Given the description of an element on the screen output the (x, y) to click on. 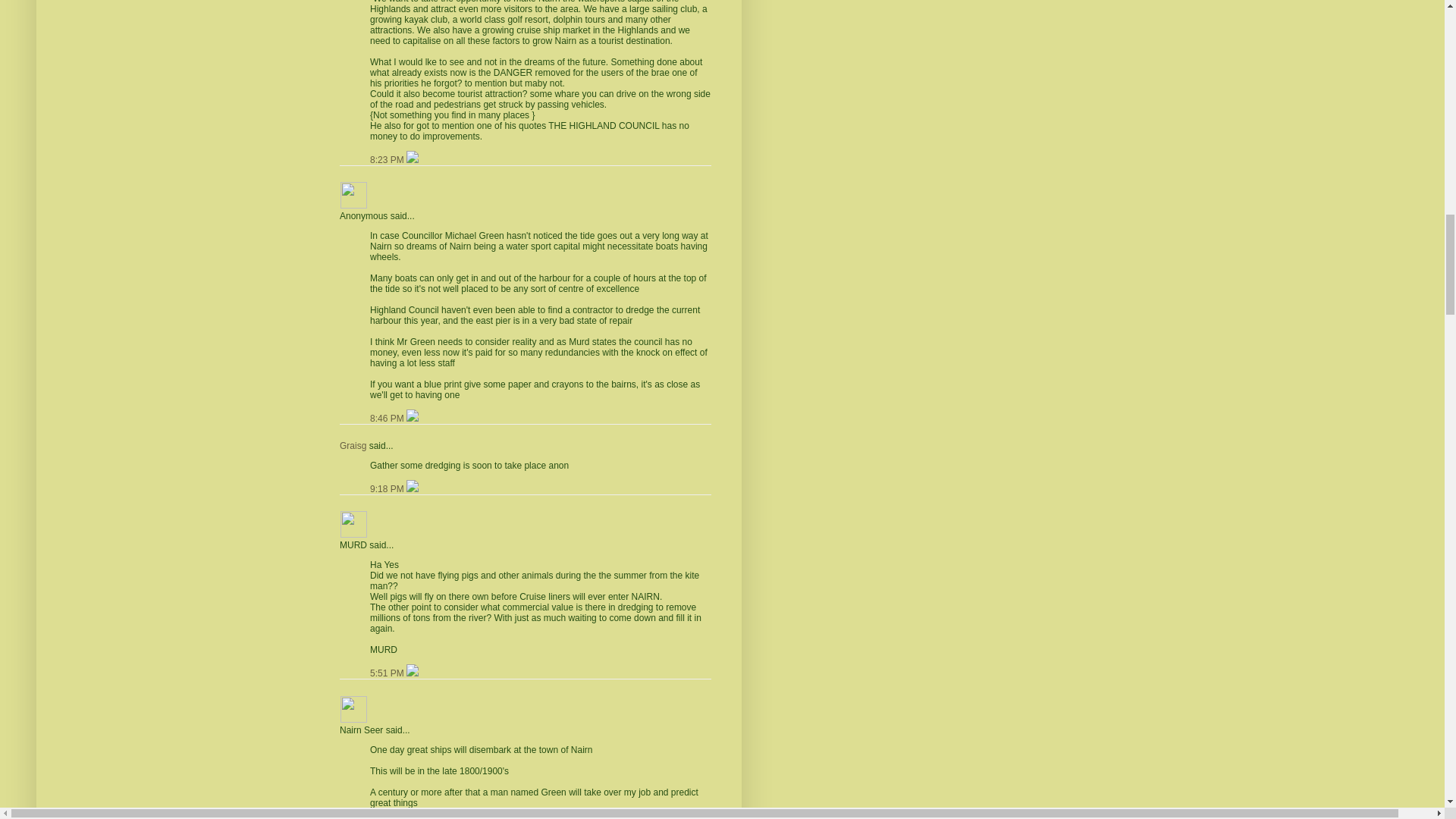
5:51 PM (387, 673)
8:23 PM (387, 159)
Delete Comment (412, 418)
comment permalink (387, 418)
8:46 PM (387, 418)
9:18 PM (387, 489)
Graisg (352, 445)
Delete Comment (412, 159)
comment permalink (387, 159)
Anonymous (353, 194)
